Given the description of an element on the screen output the (x, y) to click on. 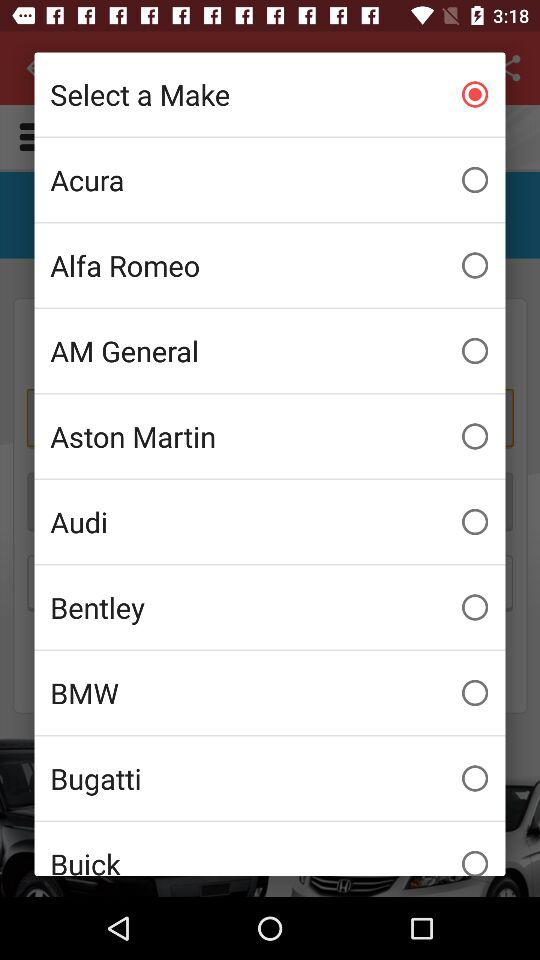
launch the icon above audi icon (269, 436)
